Given the description of an element on the screen output the (x, y) to click on. 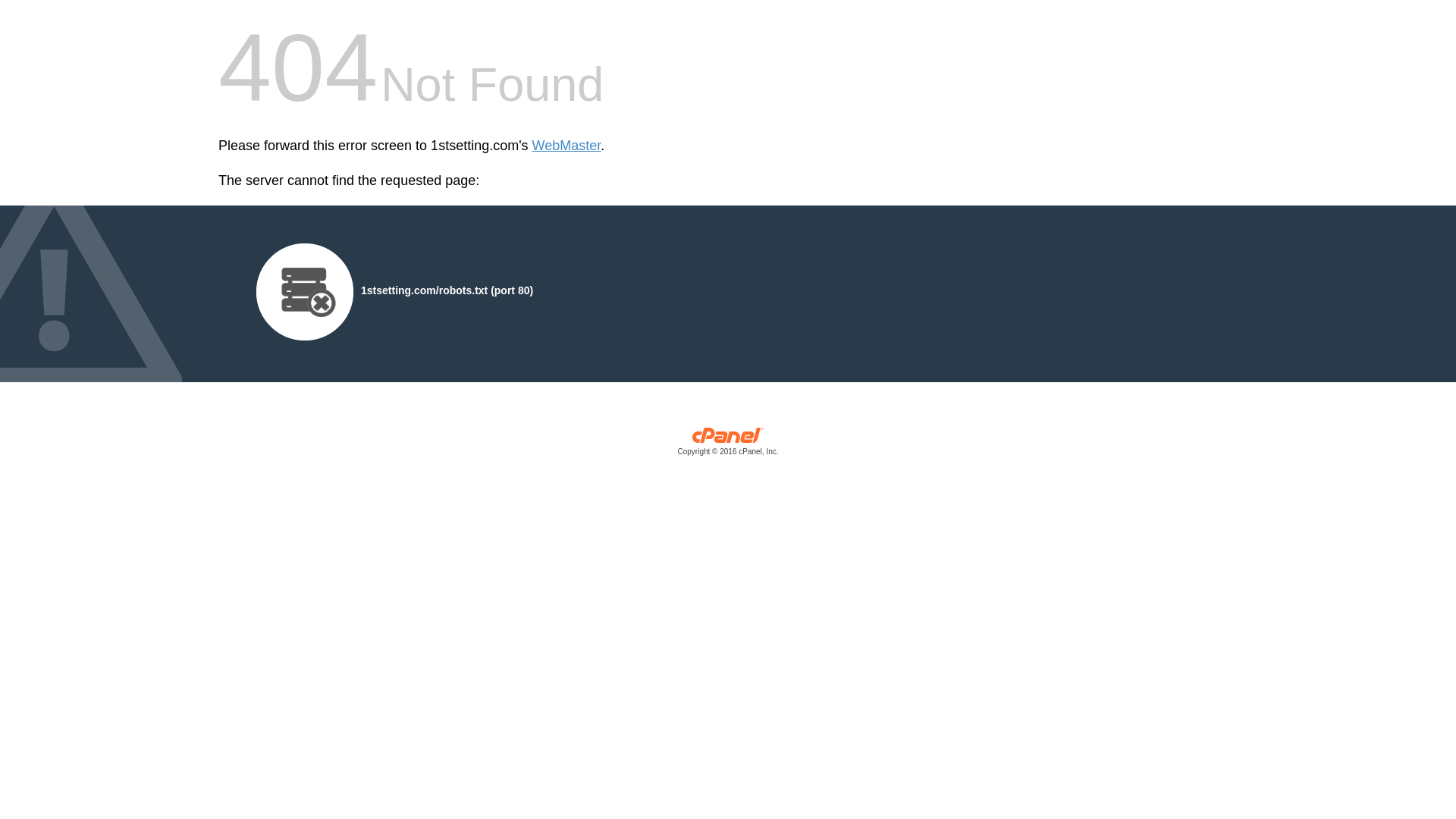
WebMaster Element type: text (566, 145)
